Given the description of an element on the screen output the (x, y) to click on. 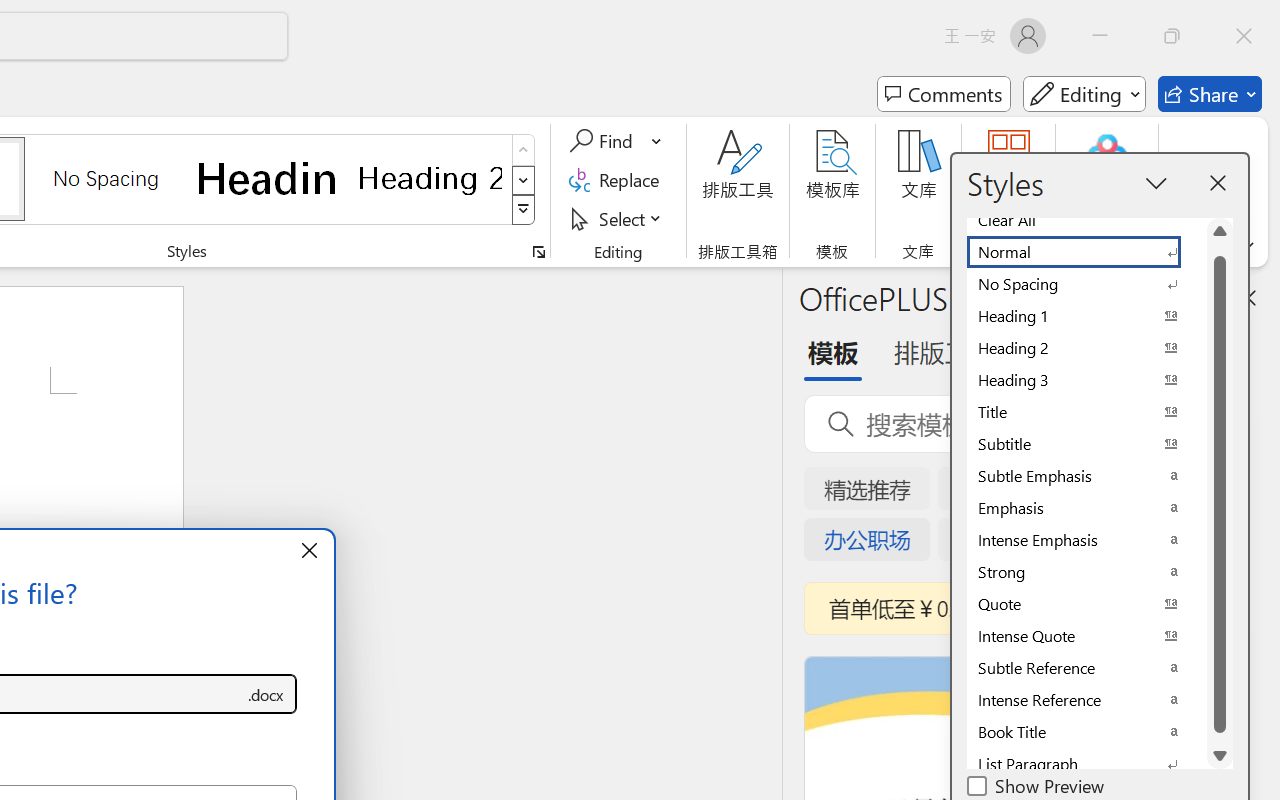
Mode (1083, 94)
Class: NetUIImage (523, 210)
Subtitle (1086, 443)
Share (1210, 94)
Find (616, 141)
Heading 1 (267, 178)
Ribbon Display Options (1246, 245)
Subtle Emphasis (1086, 475)
Find (604, 141)
Quote (1086, 604)
Row Down (523, 180)
Intense Quote (1086, 636)
Intense Reference (1086, 700)
